Given the description of an element on the screen output the (x, y) to click on. 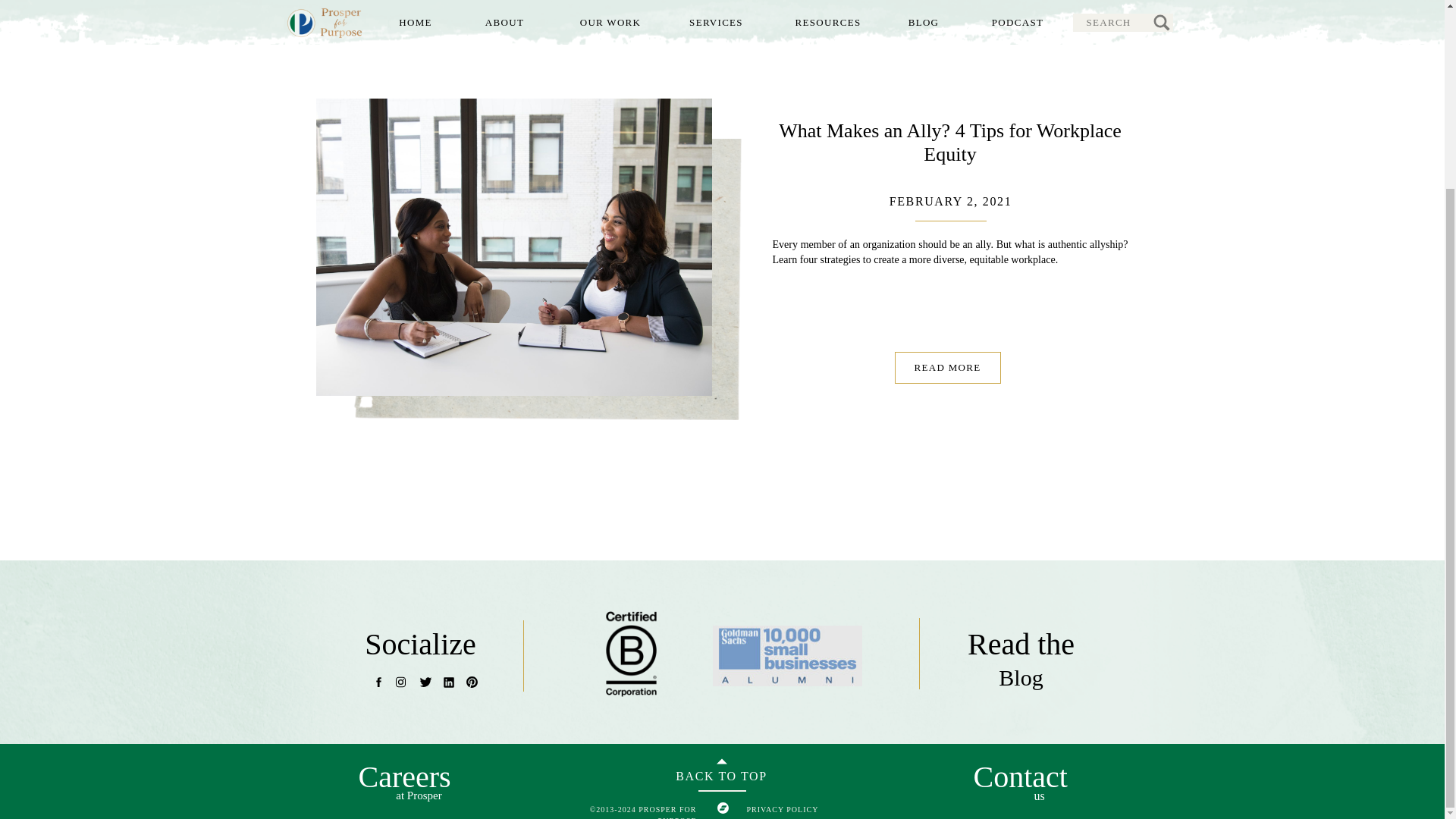
What Makes an Ally? 4 Tips for Workplace Equity (513, 246)
READ MORE (947, 367)
at Prosper (419, 796)
Contact (1018, 773)
BACK TO TOP (720, 775)
us (1039, 796)
What Makes an Ally? 4 Tips for Workplace Equity (949, 142)
What Makes an Ally? 4 Tips for Workplace Equity (948, 368)
PRIVACY POLICY (814, 808)
Careers (402, 769)
